Given the description of an element on the screen output the (x, y) to click on. 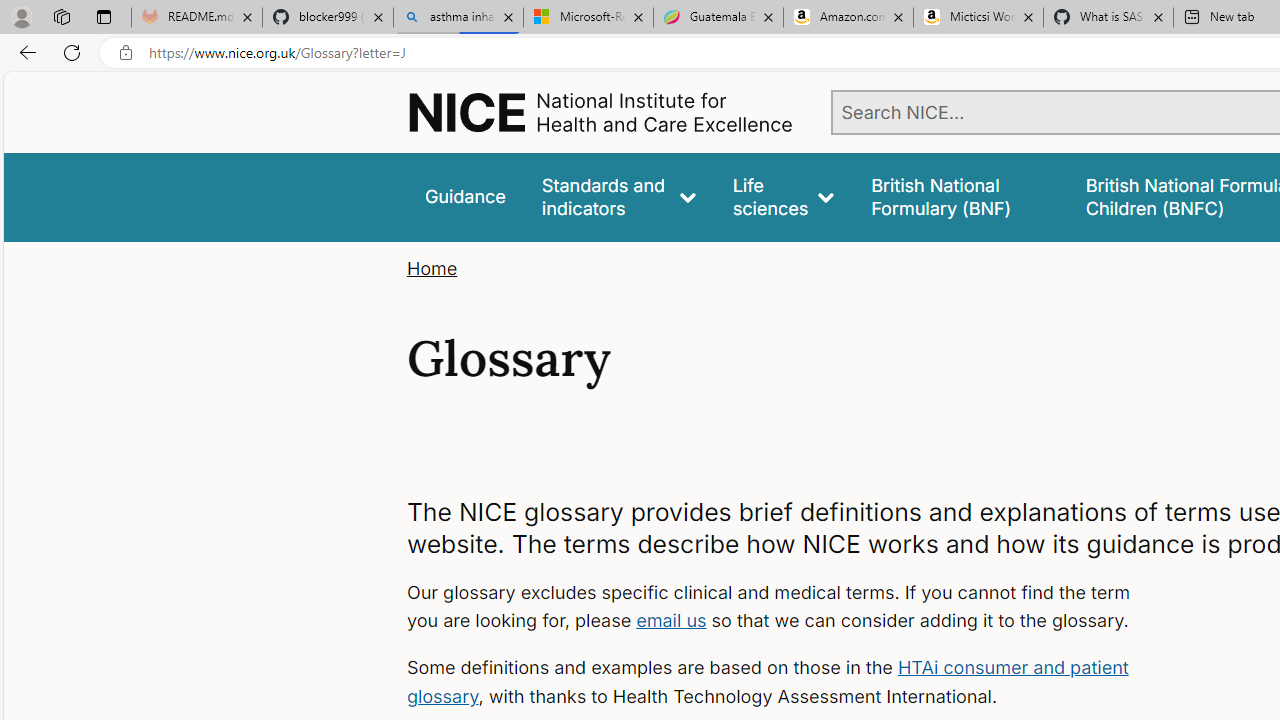
false (959, 196)
email us (671, 620)
HTAi consumer and patient glossary (766, 681)
Life sciences (783, 196)
asthma inhaler - Search (458, 17)
